Given the description of an element on the screen output the (x, y) to click on. 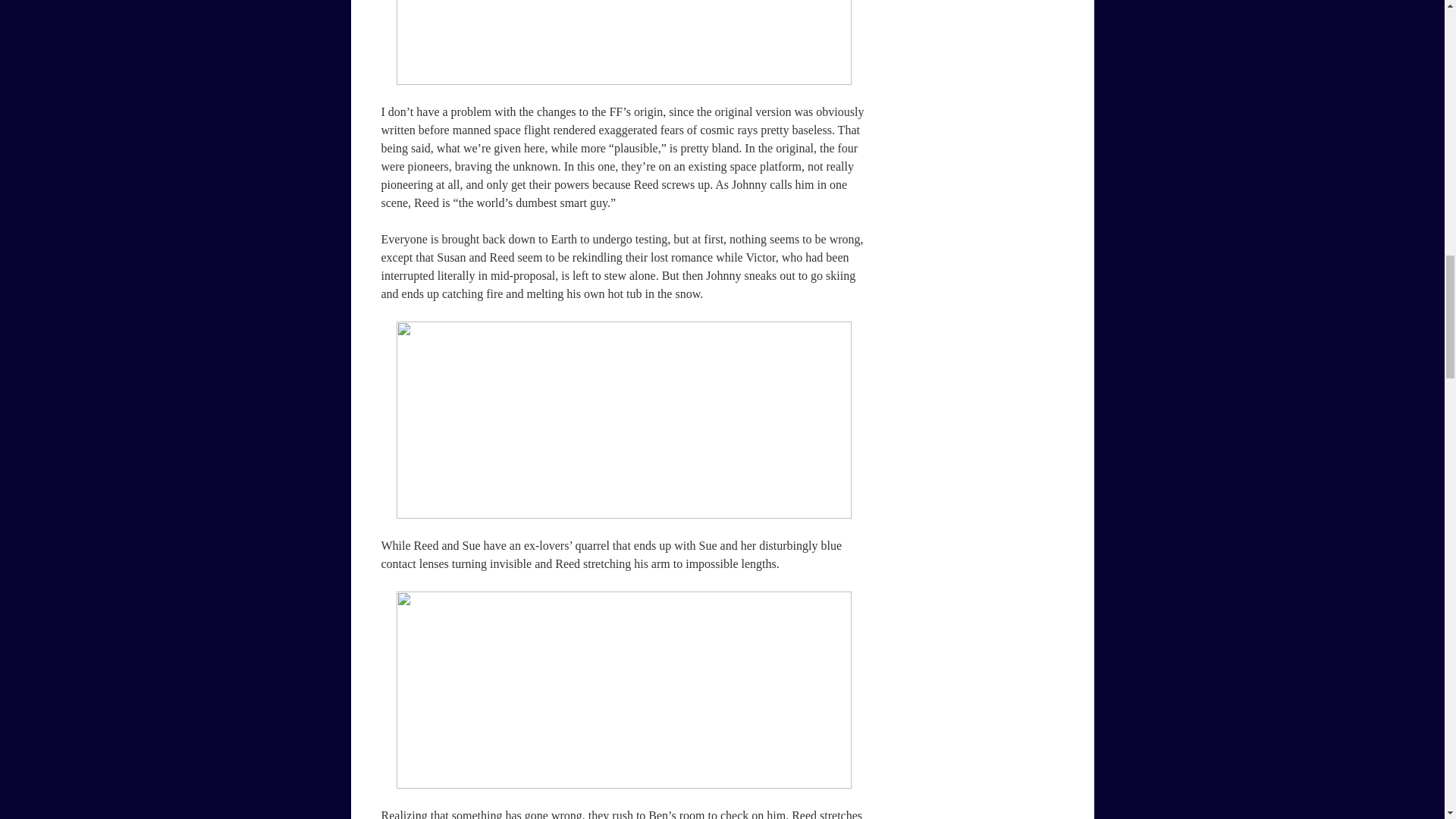
Shrinkage (623, 419)
At least we don't have to look at her spooky eyes now (623, 689)
